Given the description of an element on the screen output the (x, y) to click on. 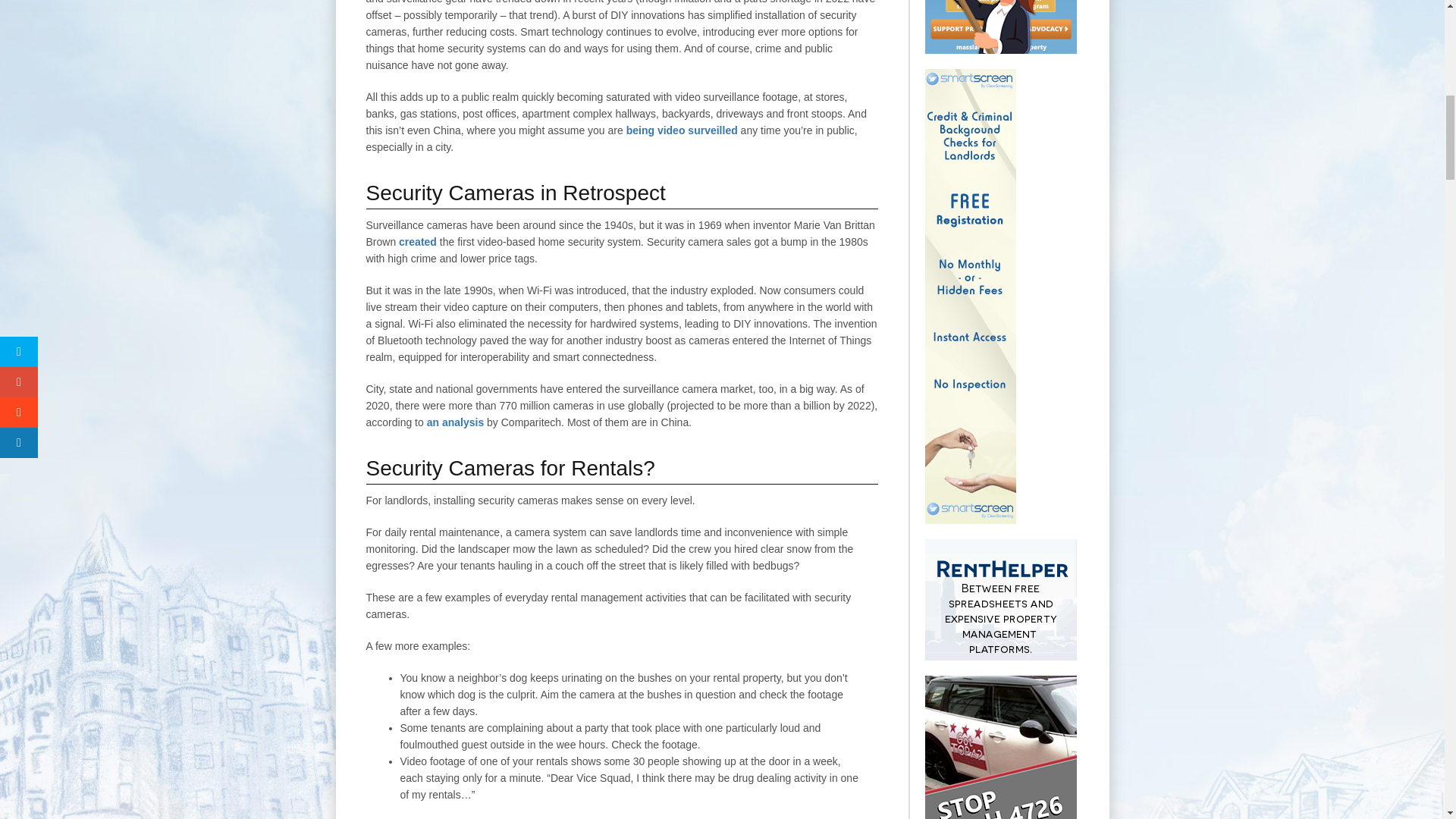
being video surveilled (682, 130)
created (417, 241)
an analysis (455, 422)
